Given the description of an element on the screen output the (x, y) to click on. 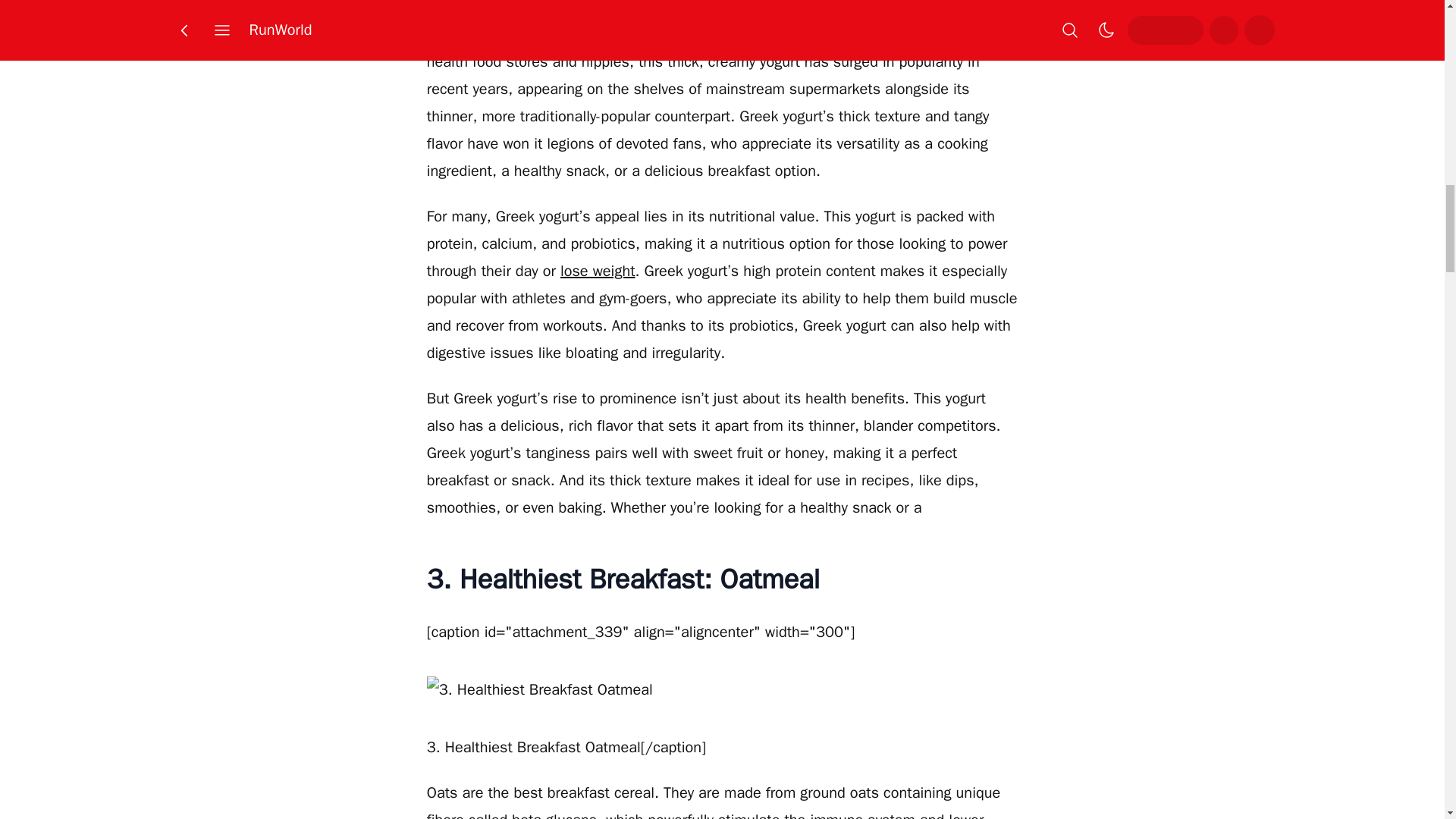
lose weight (597, 270)
